Given the description of an element on the screen output the (x, y) to click on. 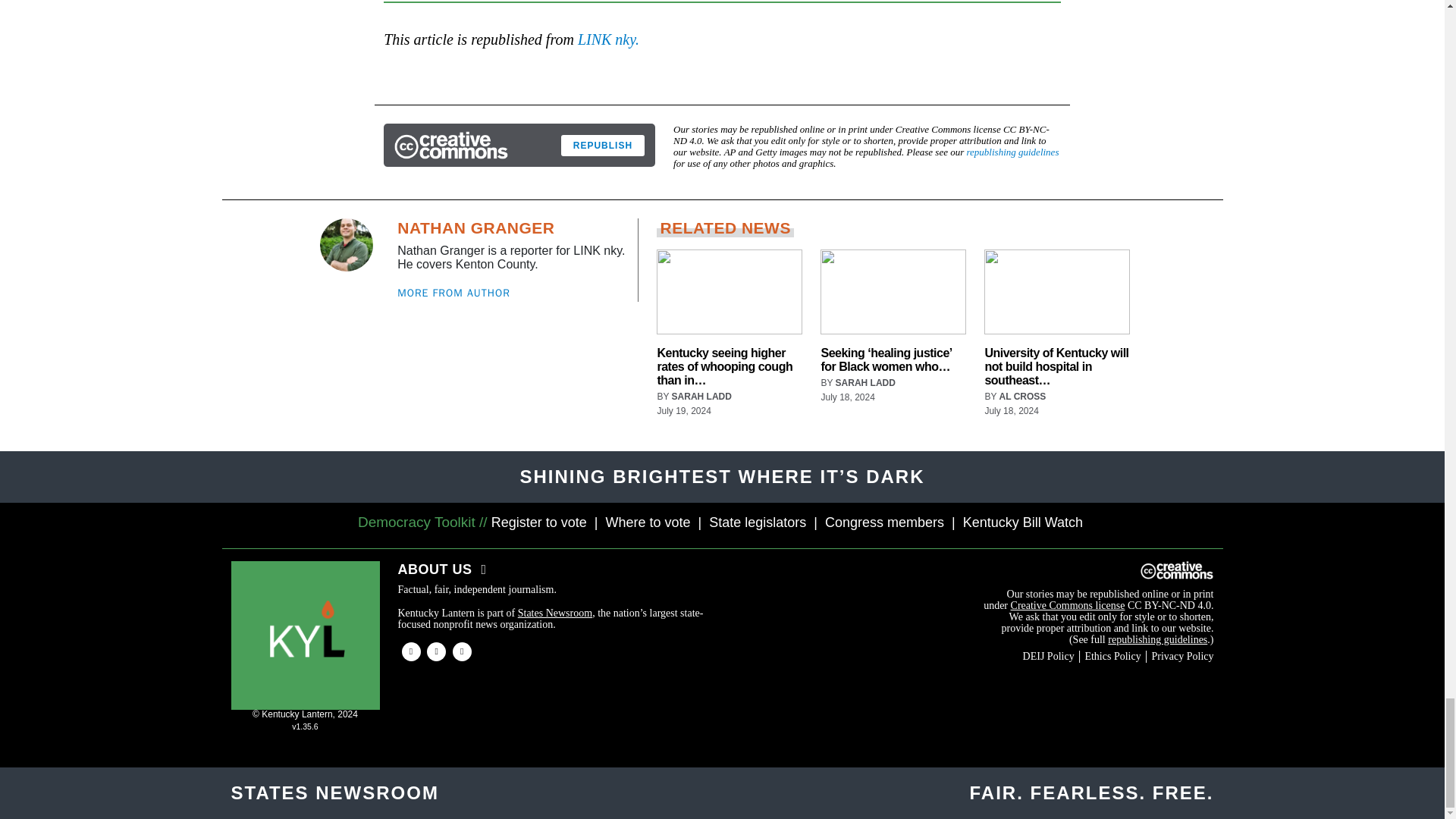
LINK nky. (608, 39)
Posts by Sarah Ladd (865, 382)
Posts by Sarah Ladd (701, 396)
Posts by Al Cross (1022, 396)
